Given the description of an element on the screen output the (x, y) to click on. 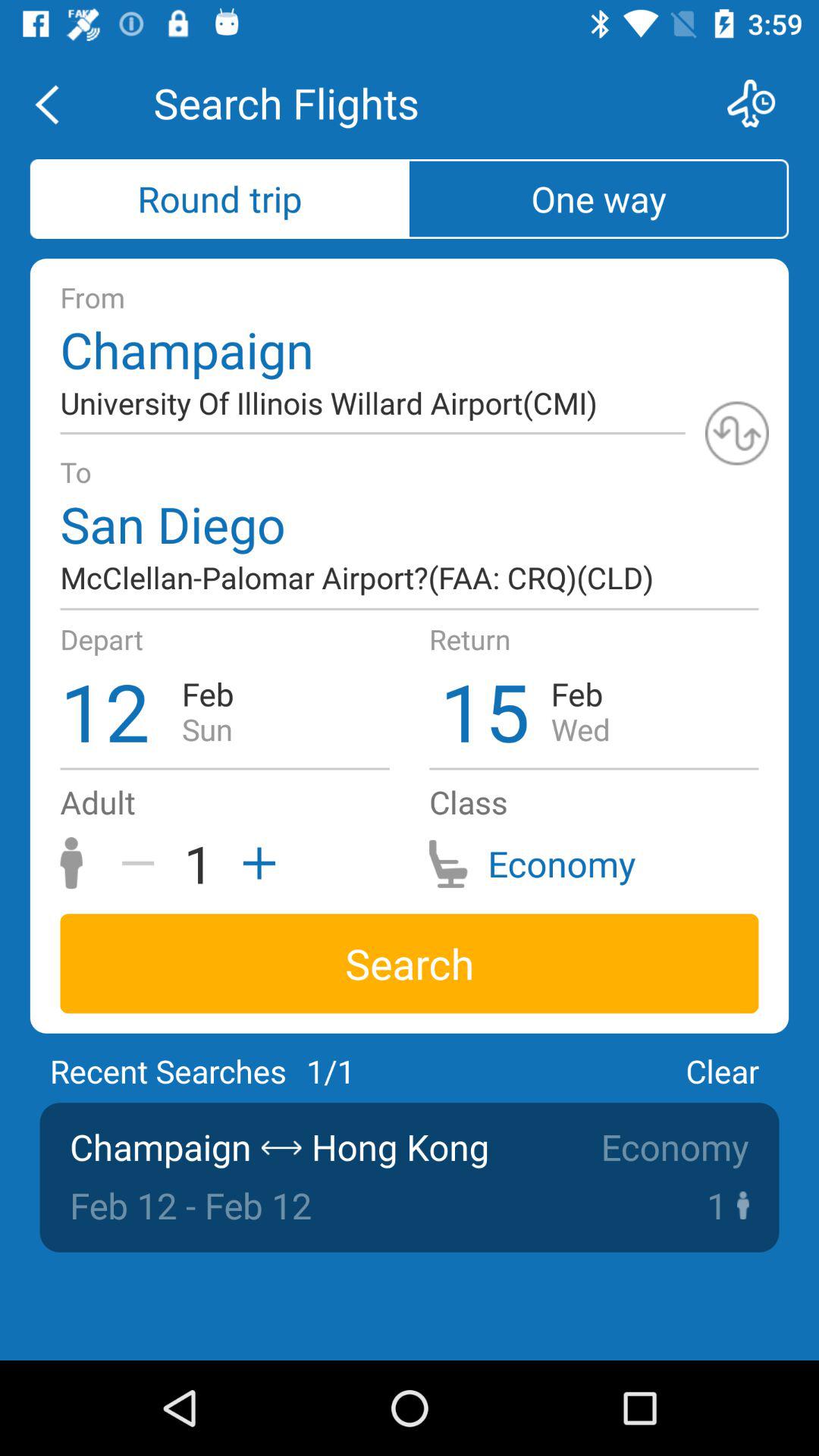
flight times (761, 102)
